Given the description of an element on the screen output the (x, y) to click on. 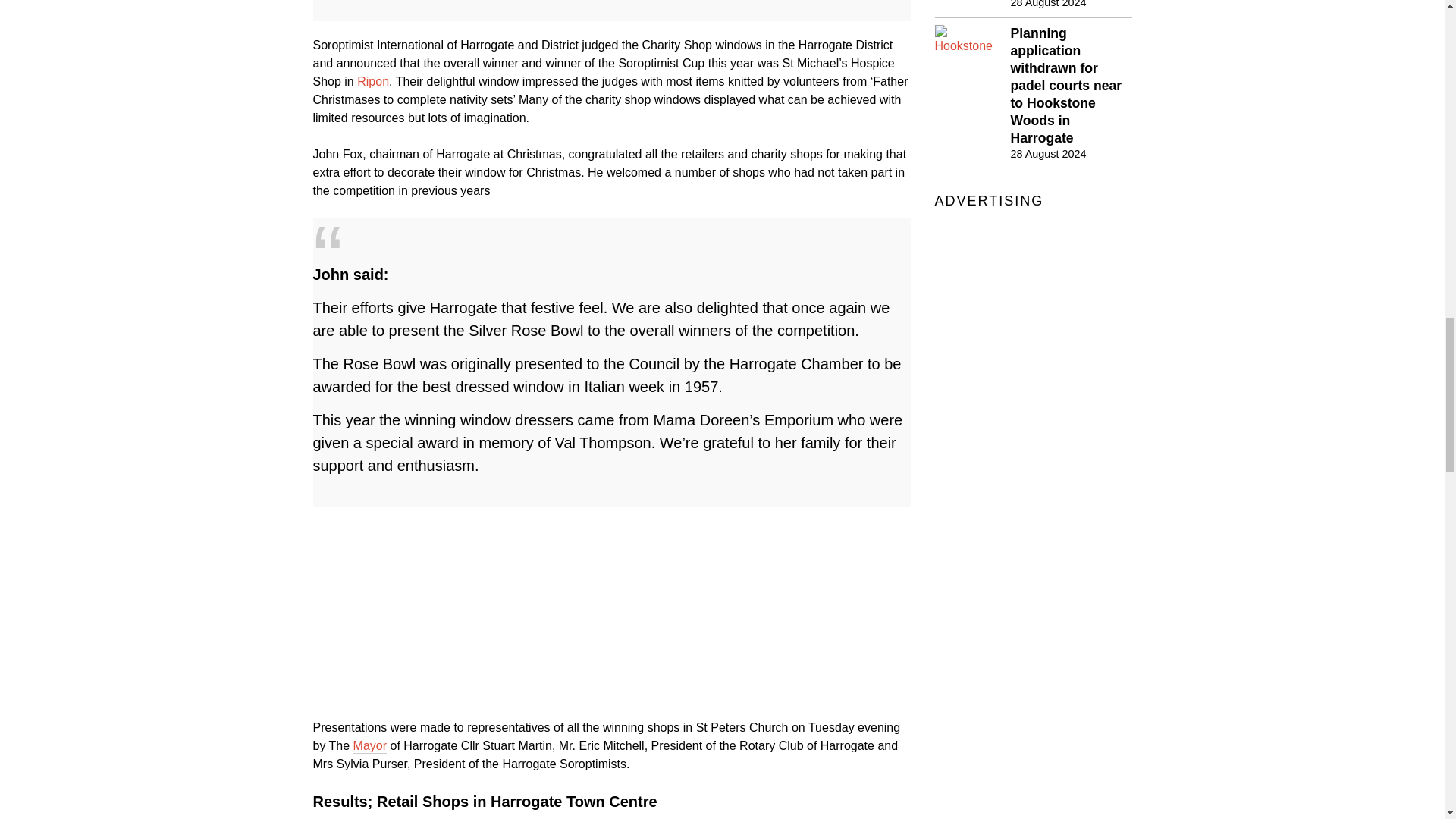
Mayor (370, 745)
Mayor (370, 745)
Ripon (372, 81)
28 Aug, 2024 13:20:38 (1048, 4)
28 Aug, 2024 10:59:44 (1048, 153)
Ripon (372, 81)
